Given the description of an element on the screen output the (x, y) to click on. 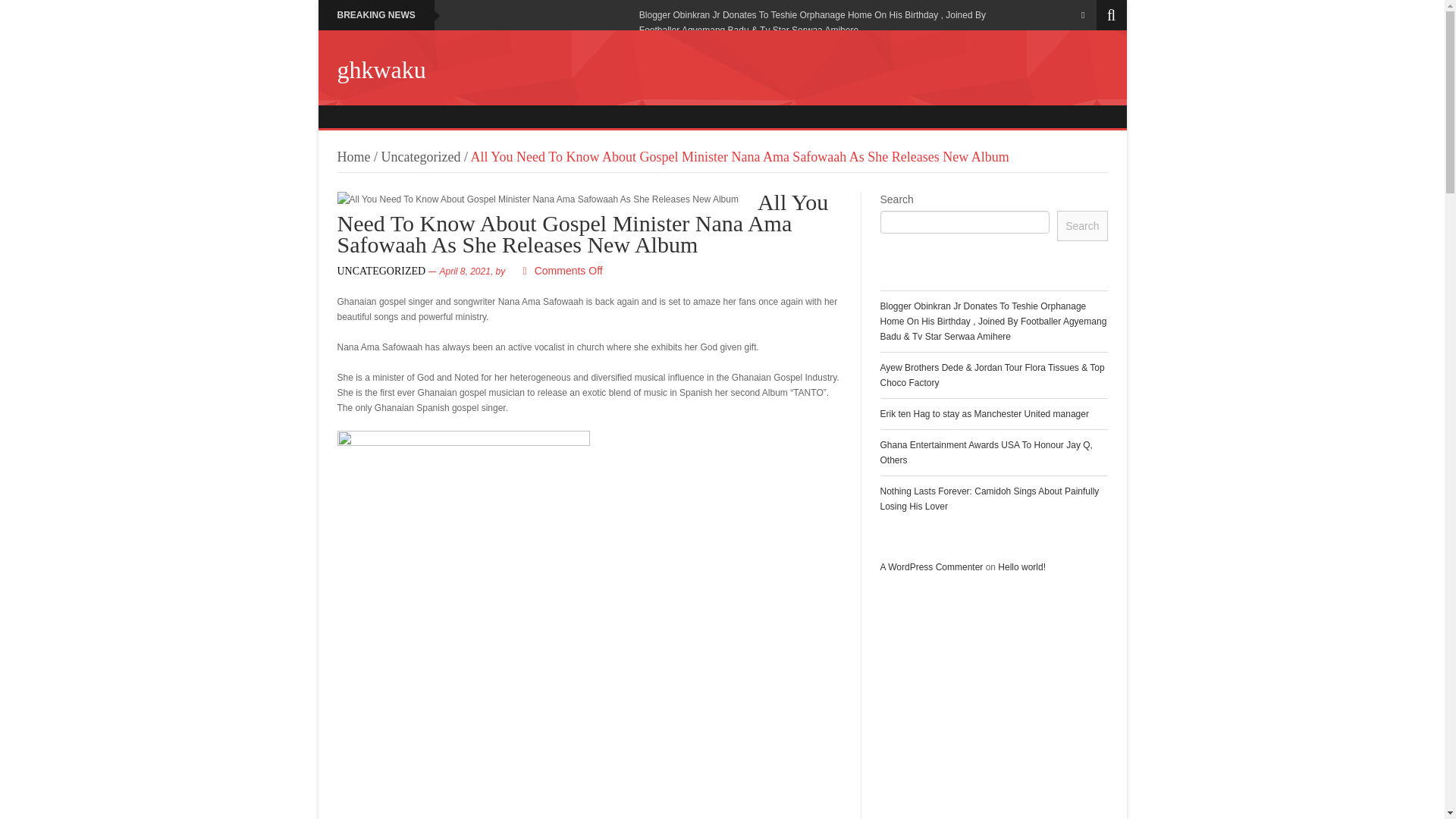
A WordPress Commenter (930, 566)
Home (352, 156)
Search (1081, 225)
Uncategorized (421, 156)
Hello world! (1021, 566)
Erik ten Hag to stay as Manchester United manager (983, 413)
Ghana Entertainment Awards USA To Honour Jay Q, Others (985, 452)
ghkwaku (380, 69)
UNCATEGORIZED (380, 270)
